Given the description of an element on the screen output the (x, y) to click on. 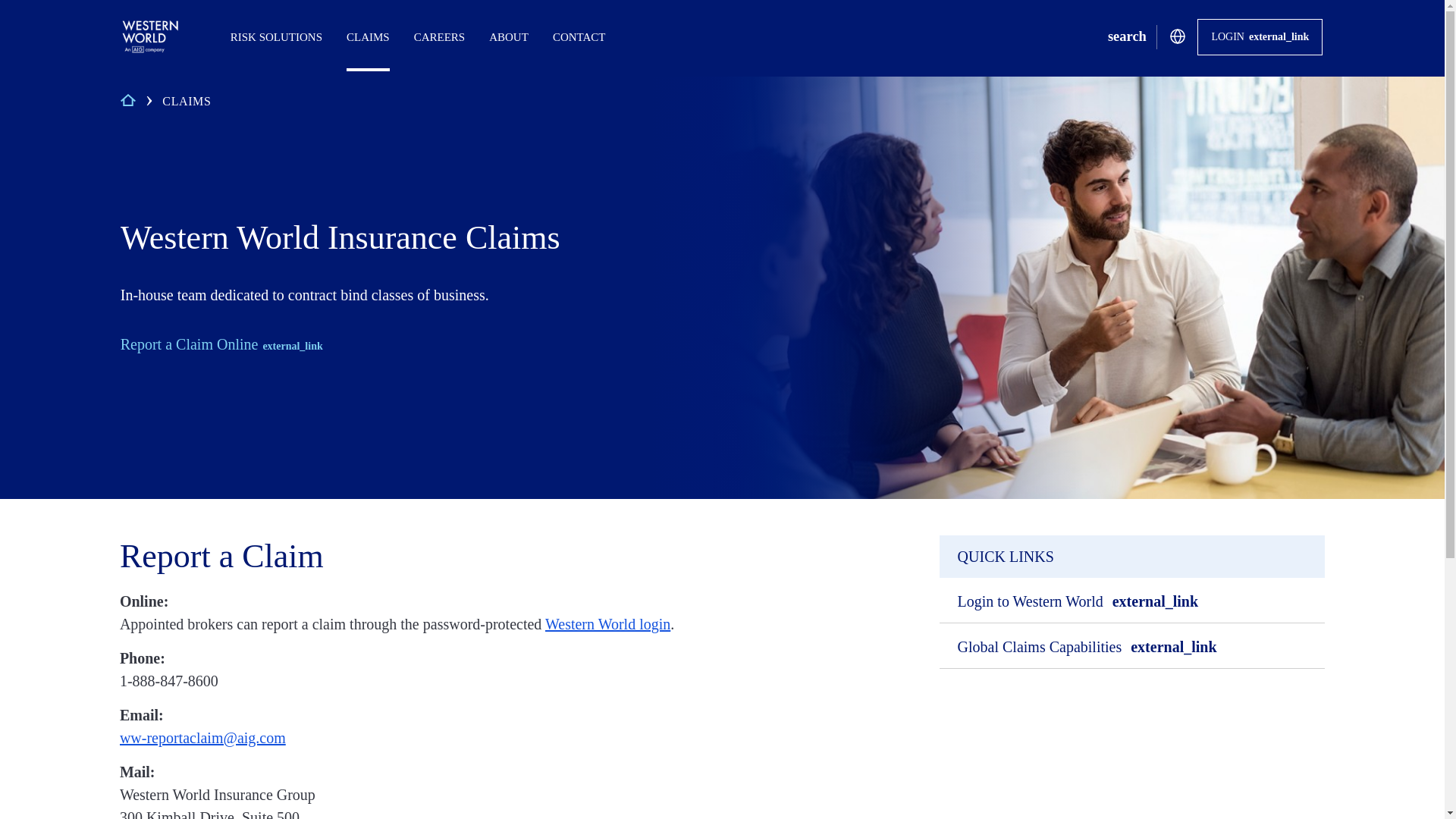
Western World login (606, 623)
CONTACT (578, 31)
search (1091, 645)
CAREERS (1081, 600)
RISK SOLUTIONS (1127, 36)
Western World Insurance Claims (439, 31)
CLAIMS (276, 31)
HOME (351, 238)
